Given the description of an element on the screen output the (x, y) to click on. 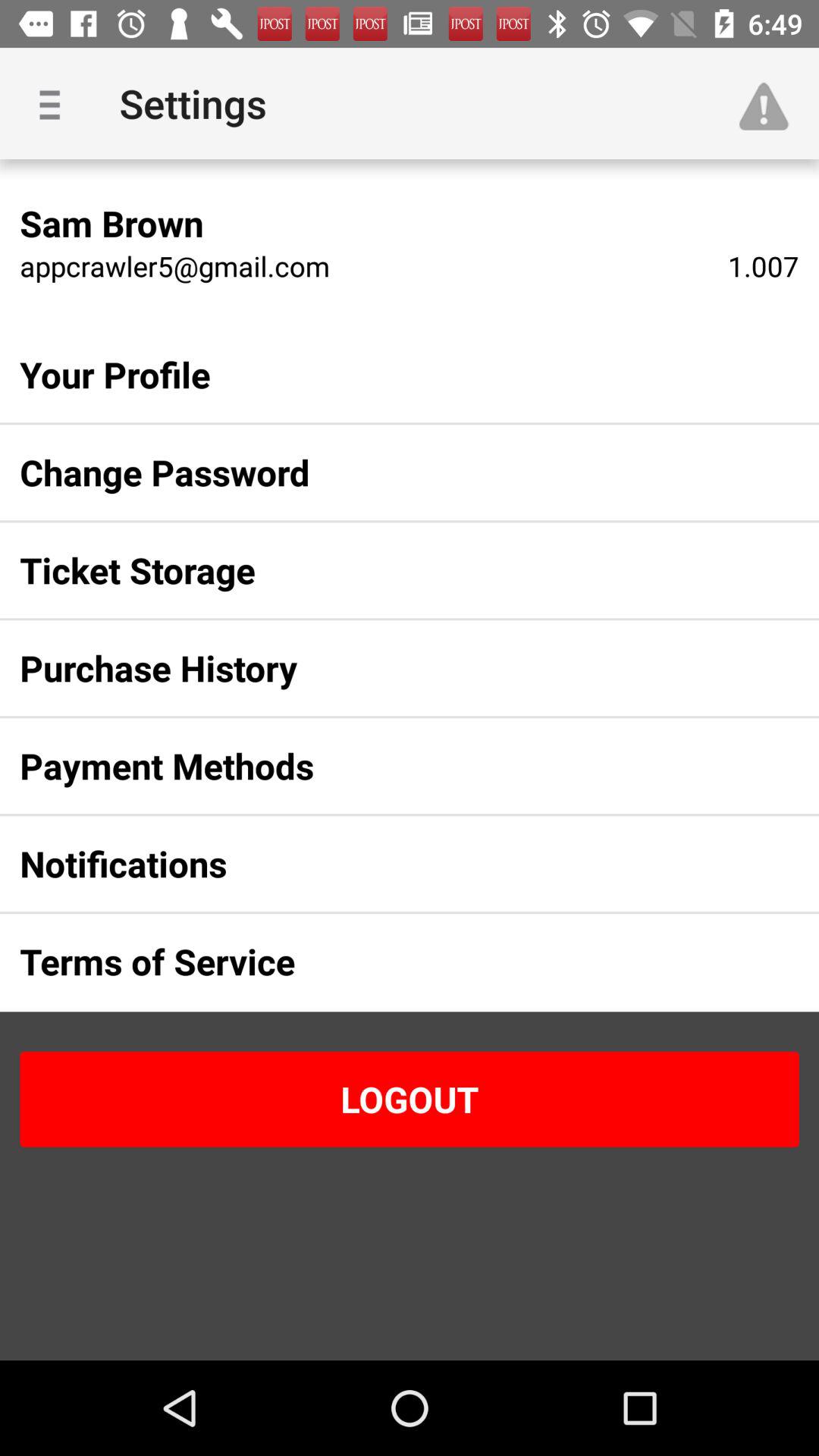
open icon next to the appcrawler5@gmail.com (763, 265)
